Given the description of an element on the screen output the (x, y) to click on. 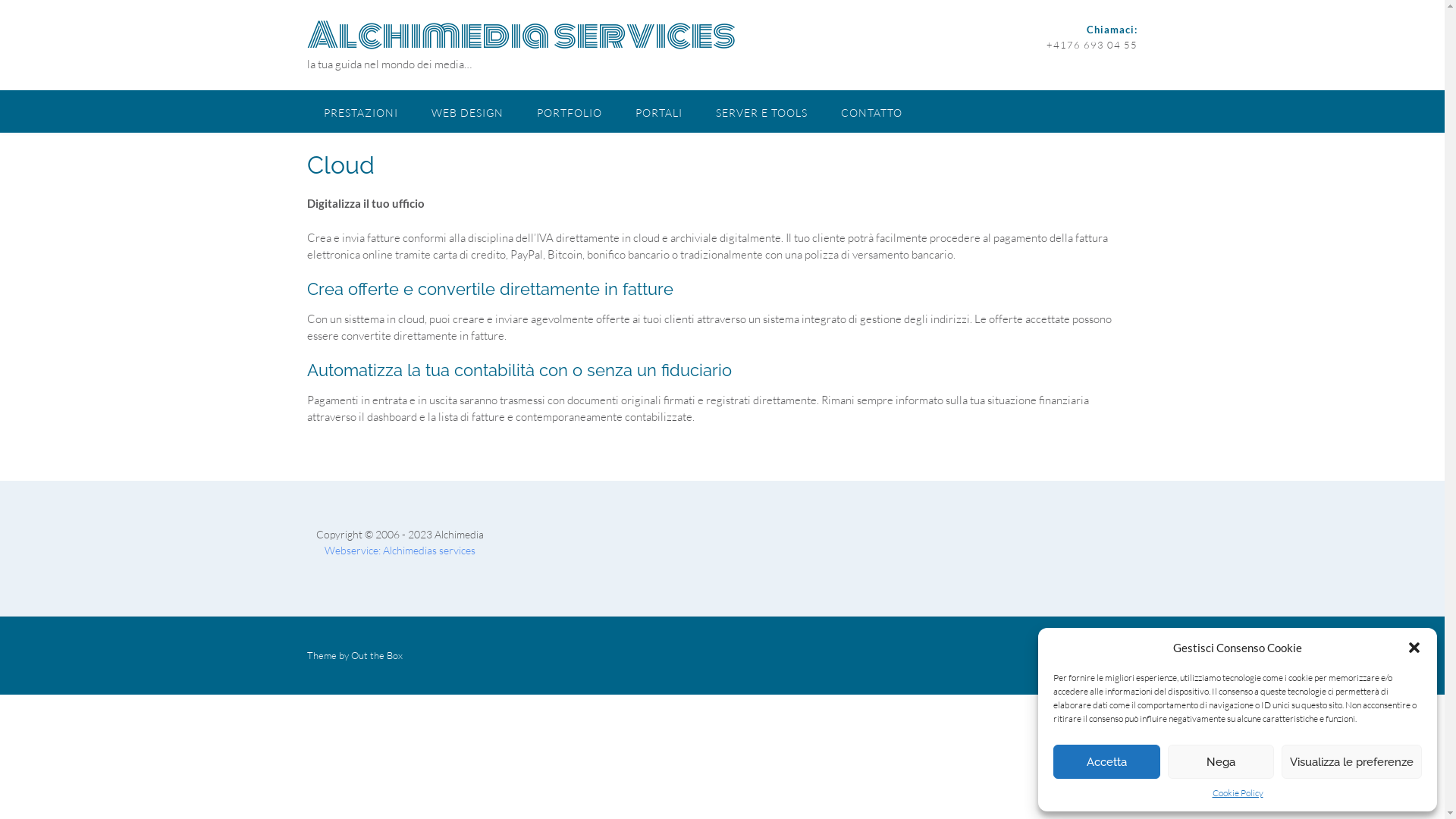
PORTFOLIO Element type: text (569, 111)
Accetta Element type: text (1106, 761)
WEB DESIGN Element type: text (466, 111)
+4176 693 04 55 Element type: text (1091, 43)
Alchimedia services Element type: text (520, 35)
Cookie Policy (UE) Element type: text (1096, 655)
SERVER E TOOLS Element type: text (761, 111)
PORTALI Element type: text (658, 111)
Out the Box Element type: text (375, 655)
PRESTAZIONI Element type: text (360, 111)
Cookie Policy Element type: text (1236, 793)
CONTATTO Element type: text (870, 111)
Visualizza le preferenze Element type: text (1351, 761)
Webservice: Alchimedias services Element type: text (399, 549)
Nega Element type: text (1220, 761)
